Given the description of an element on the screen output the (x, y) to click on. 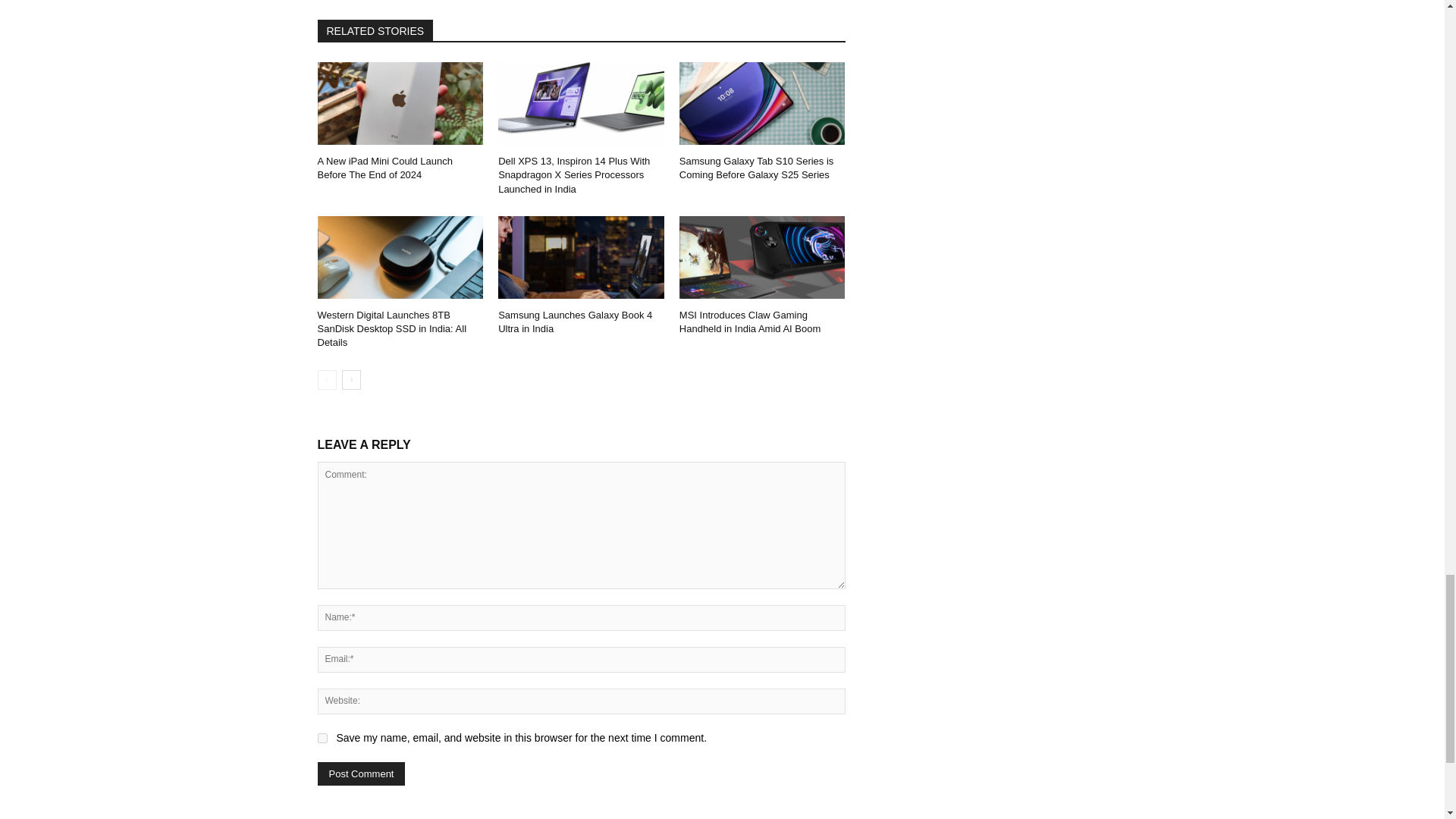
Post Comment (360, 773)
yes (321, 737)
